Given the description of an element on the screen output the (x, y) to click on. 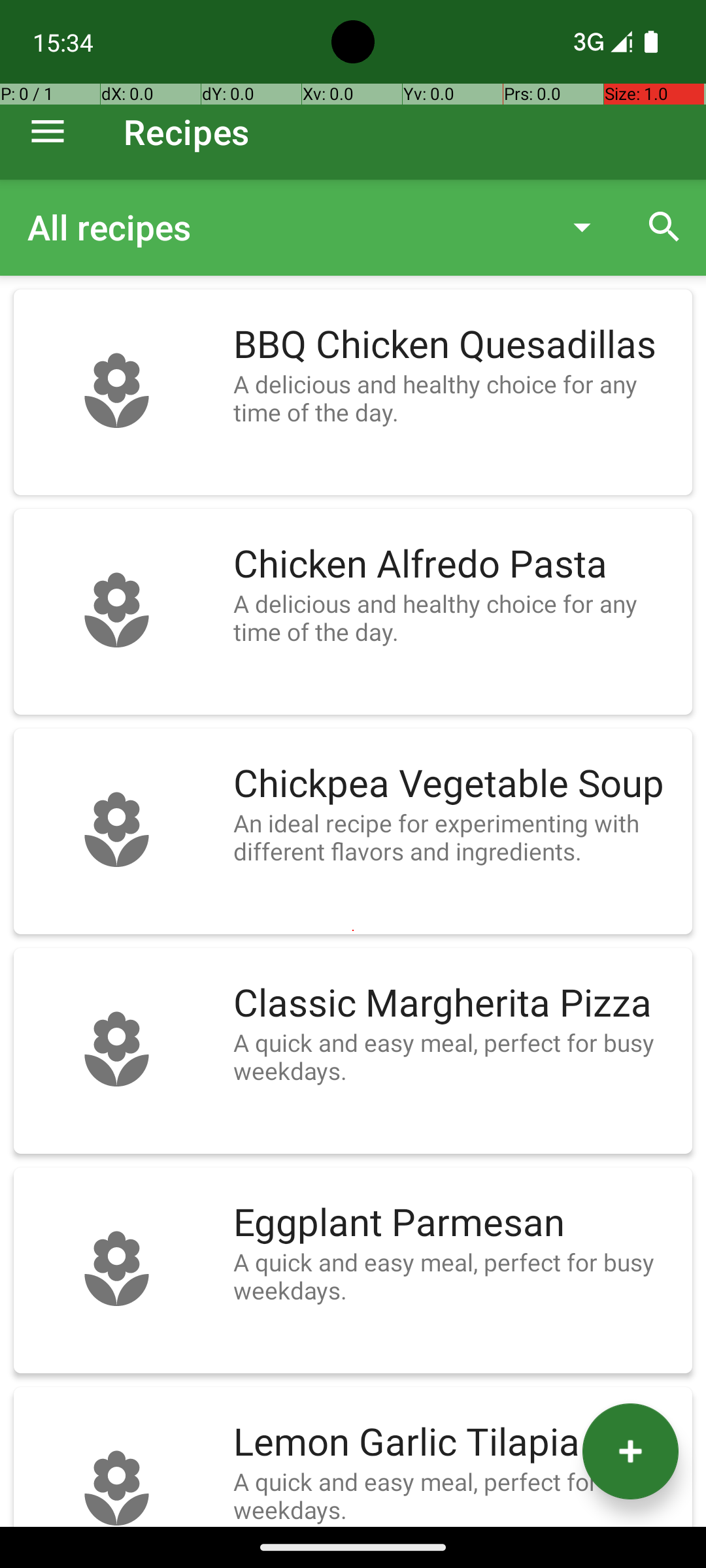
BBQ Chicken Quesadillas Element type: android.widget.TextView (455, 344)
Chickpea Vegetable Soup Element type: android.widget.TextView (455, 783)
Classic Margherita Pizza Element type: android.widget.TextView (455, 1003)
Eggplant Parmesan Element type: android.widget.TextView (455, 1222)
Lemon Garlic Tilapia Element type: android.widget.TextView (455, 1442)
